Given the description of an element on the screen output the (x, y) to click on. 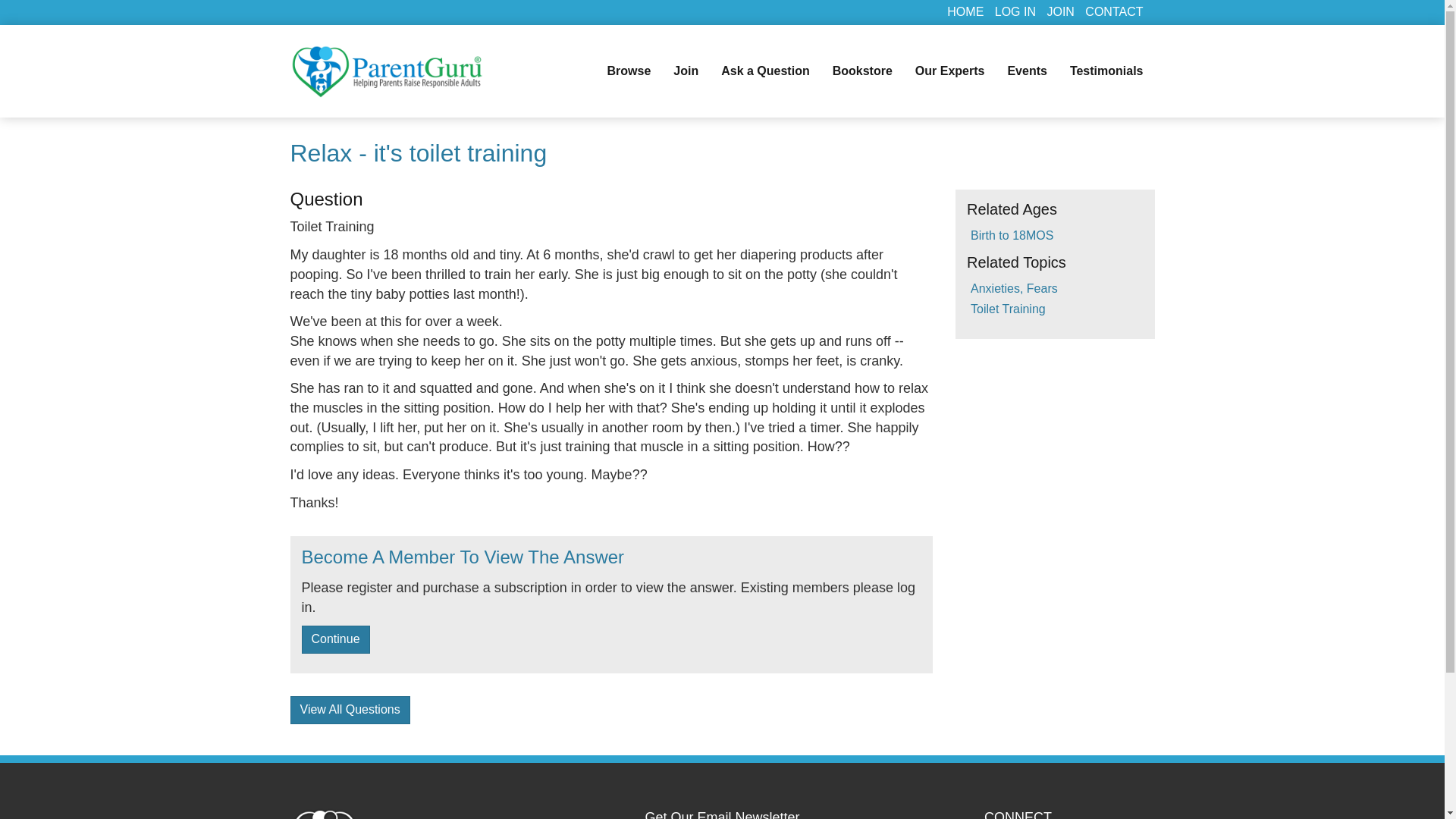
Anxieties, Fears (1014, 287)
Events (1026, 70)
JOIN (1060, 11)
LOG IN (1014, 11)
Toilet Training (1008, 308)
HOME (965, 11)
CONTACT (1113, 11)
View All Questions (349, 709)
Testimonials (1106, 70)
Ask a Question (765, 70)
